Given the description of an element on the screen output the (x, y) to click on. 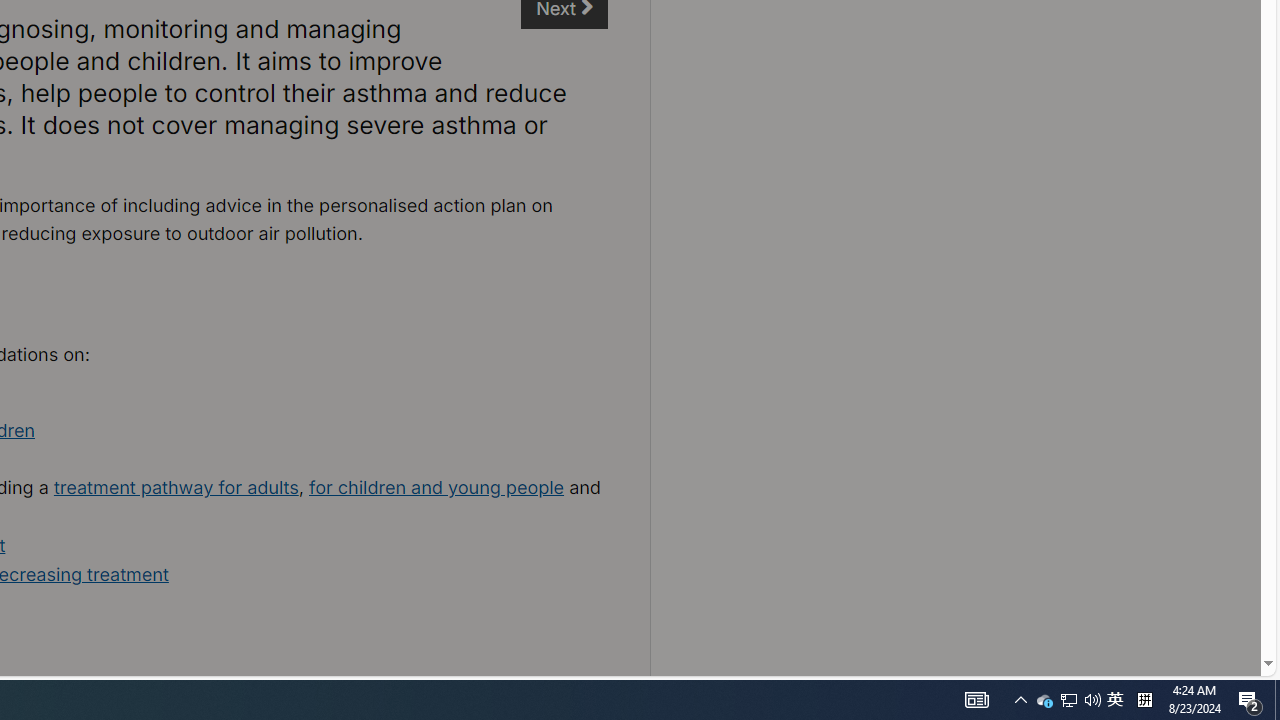
treatment pathway for adults (175, 487)
for children and young people (436, 487)
